Given the description of an element on the screen output the (x, y) to click on. 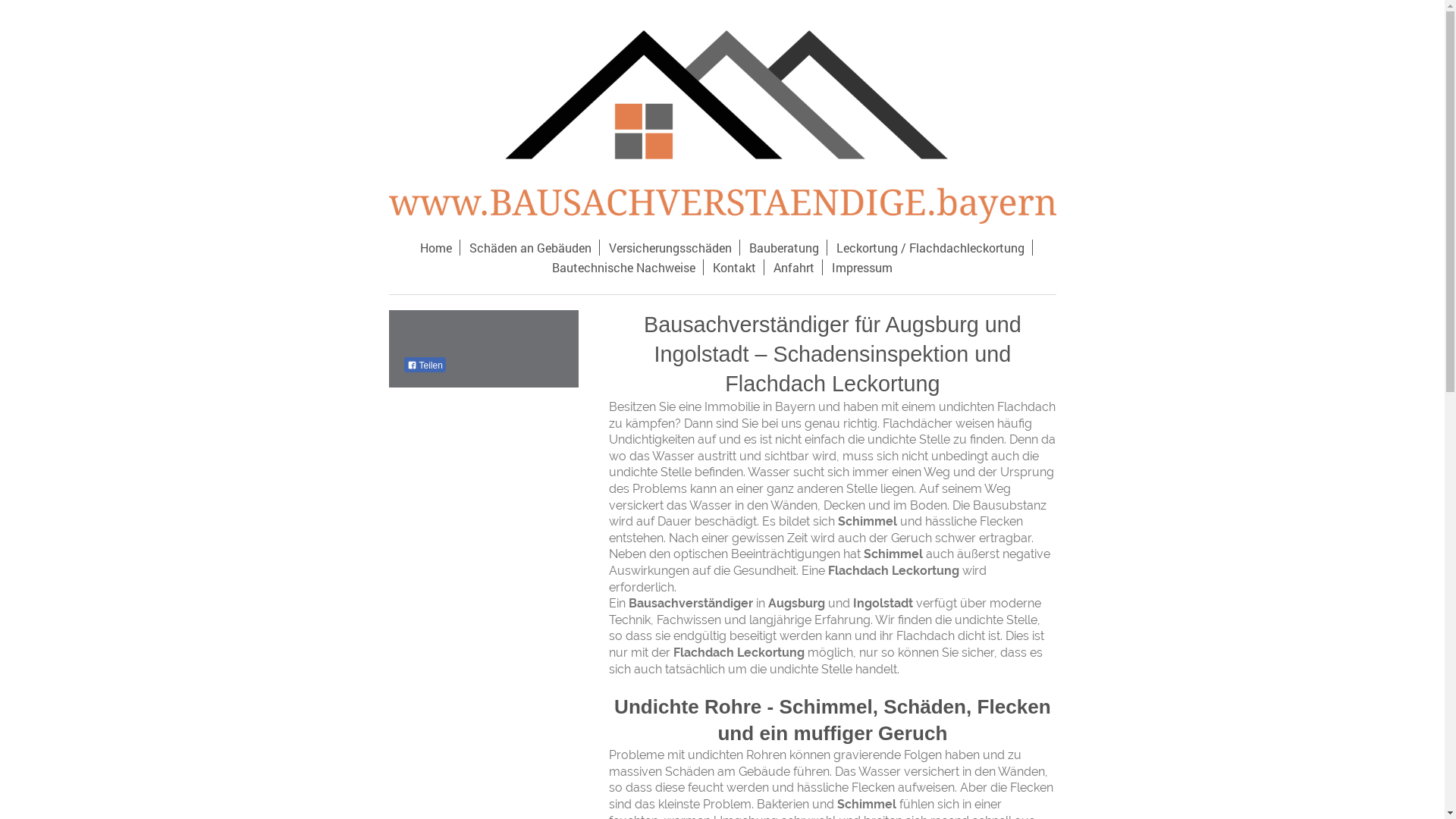
Leckortung / Flachdachleckortung Element type: text (930, 247)
Kontakt Element type: text (734, 267)
Impressum Element type: text (862, 267)
Bauberatung Element type: text (784, 247)
Anfahrt Element type: text (793, 267)
Bautechnische Nachweise Element type: text (623, 267)
Home Element type: text (436, 247)
Teilen Element type: text (424, 364)
